Given the description of an element on the screen output the (x, y) to click on. 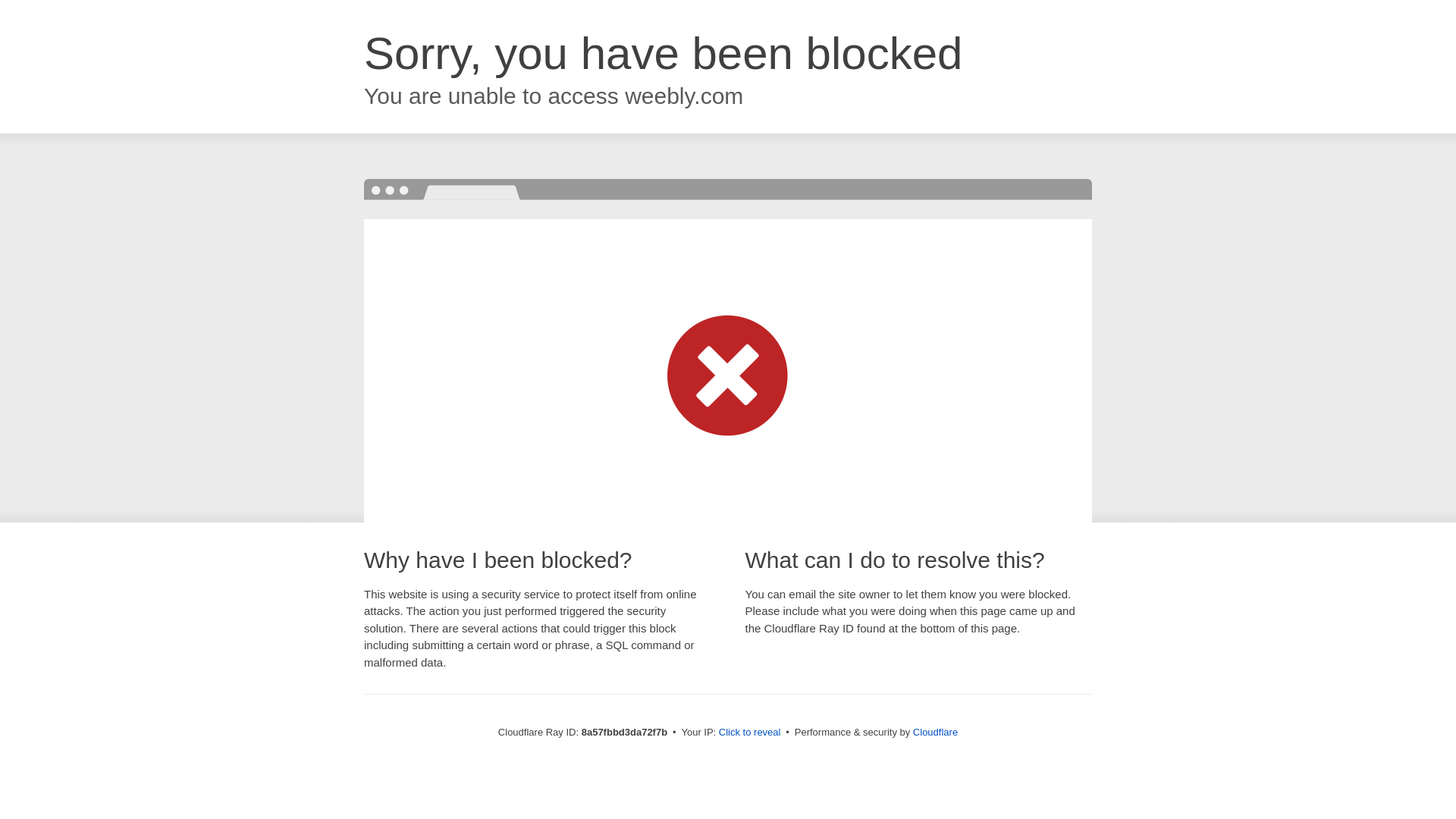
Cloudflare (935, 731)
Click to reveal (749, 732)
